Given the description of an element on the screen output the (x, y) to click on. 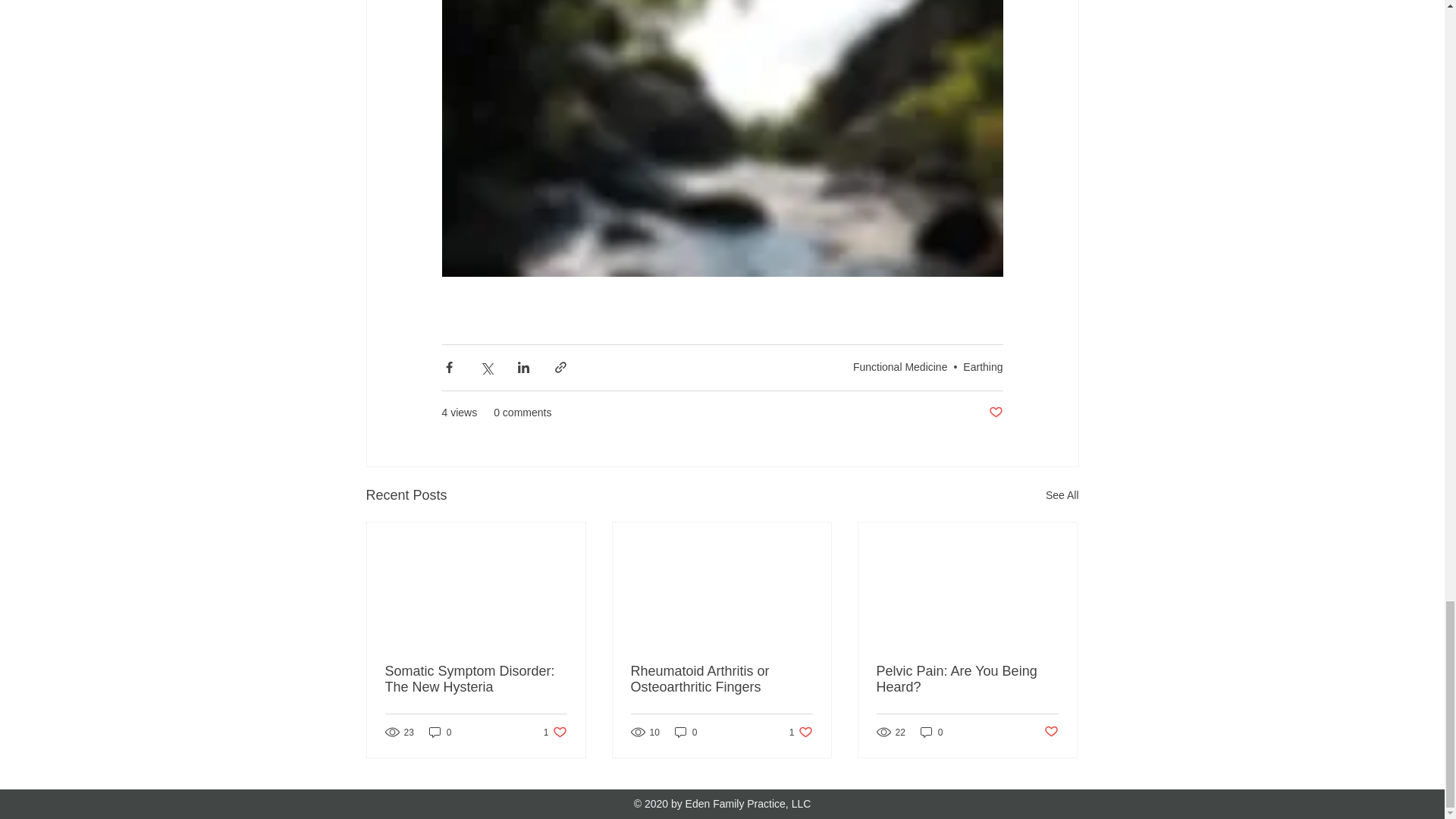
Somatic Symptom Disorder: The New Hysteria (476, 679)
0 (440, 731)
Post not marked as liked (995, 412)
Earthing (982, 367)
See All (1061, 495)
Functional Medicine (555, 731)
